Given the description of an element on the screen output the (x, y) to click on. 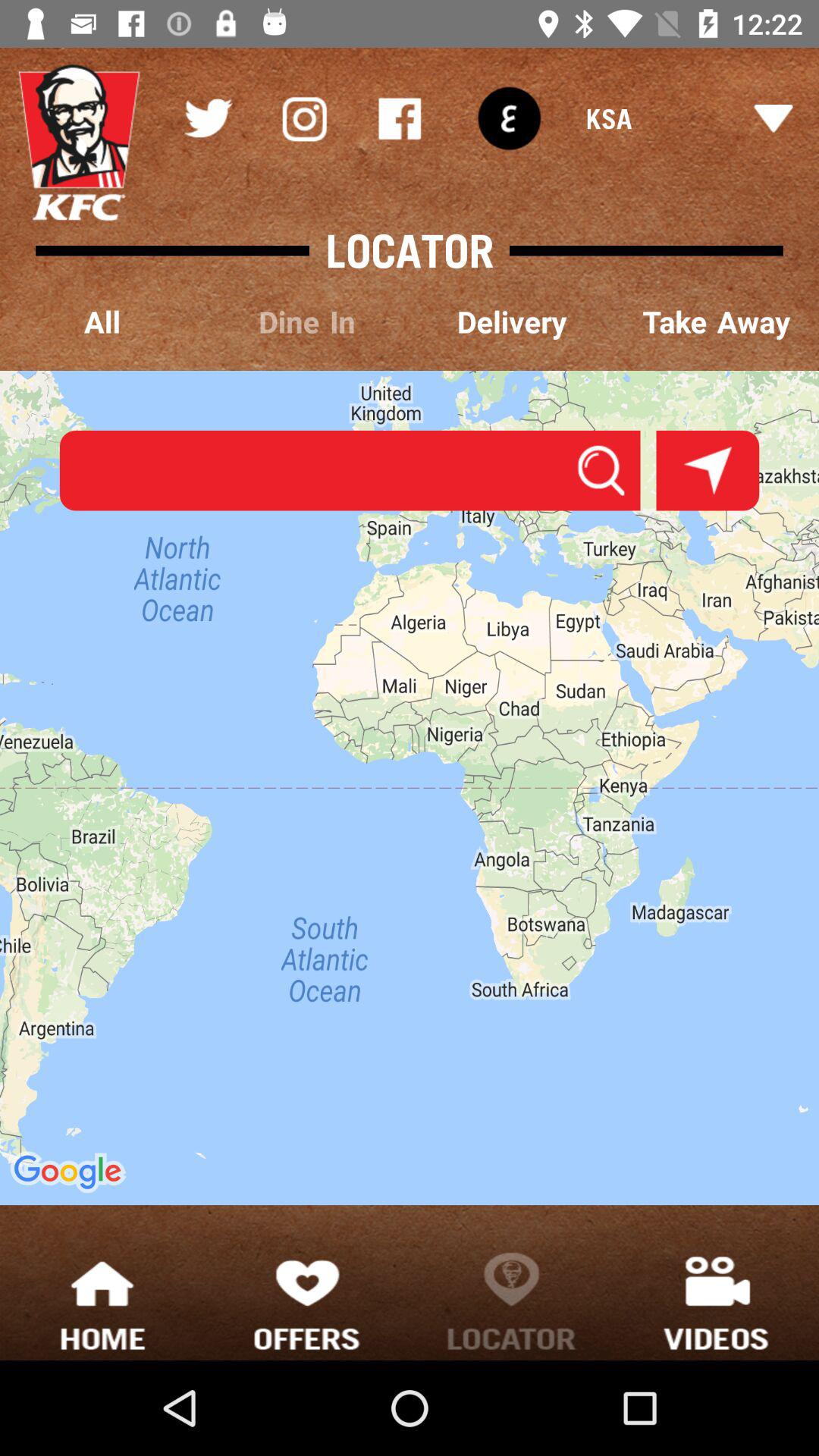
launch the take away (716, 322)
